Given the description of an element on the screen output the (x, y) to click on. 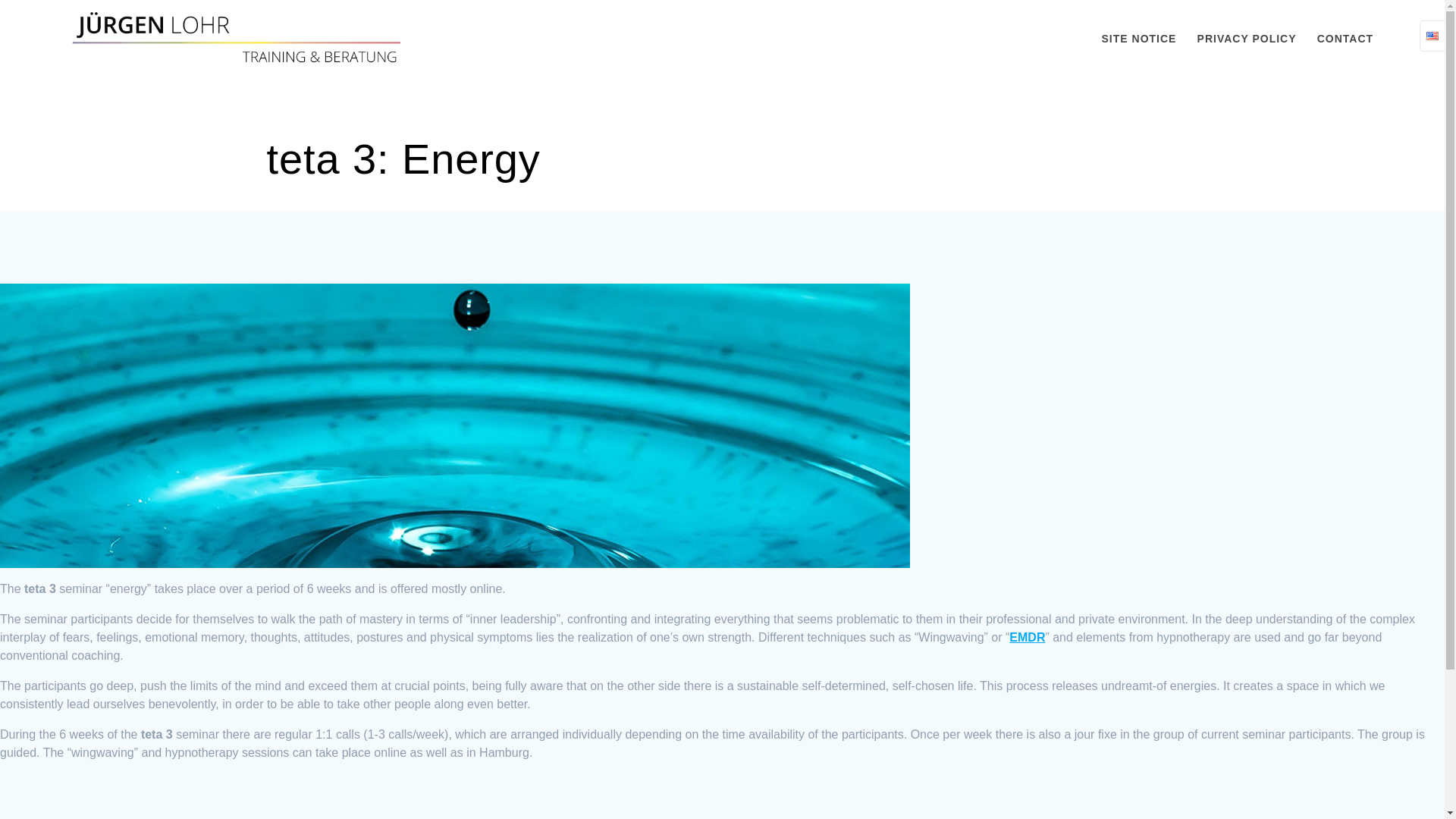
SITE NOTICE (1139, 38)
CONTACT (1345, 38)
EMDR (1027, 636)
PRIVACY POLICY (1246, 38)
